Given the description of an element on the screen output the (x, y) to click on. 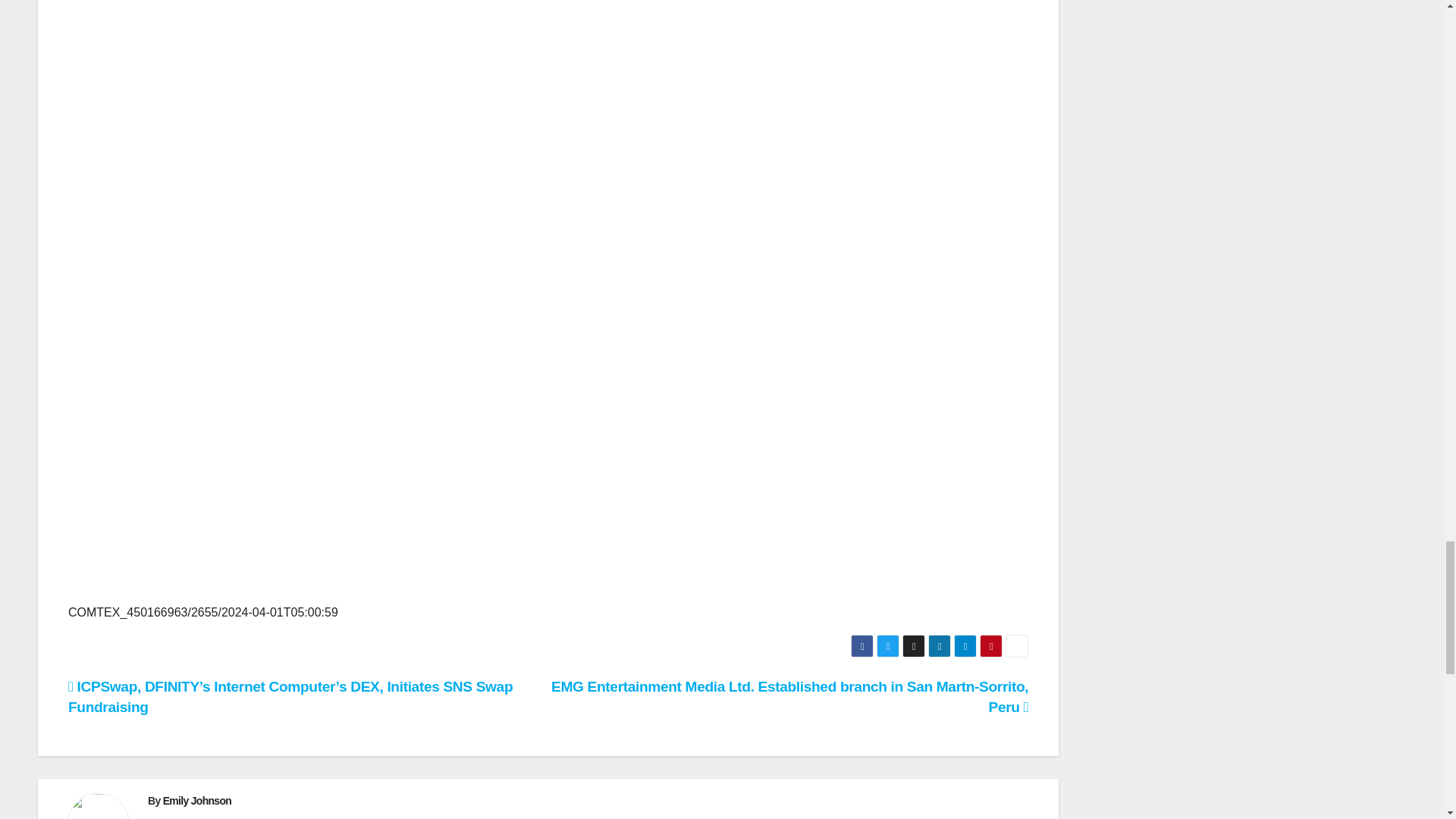
Emily Johnson (197, 800)
